Given the description of an element on the screen output the (x, y) to click on. 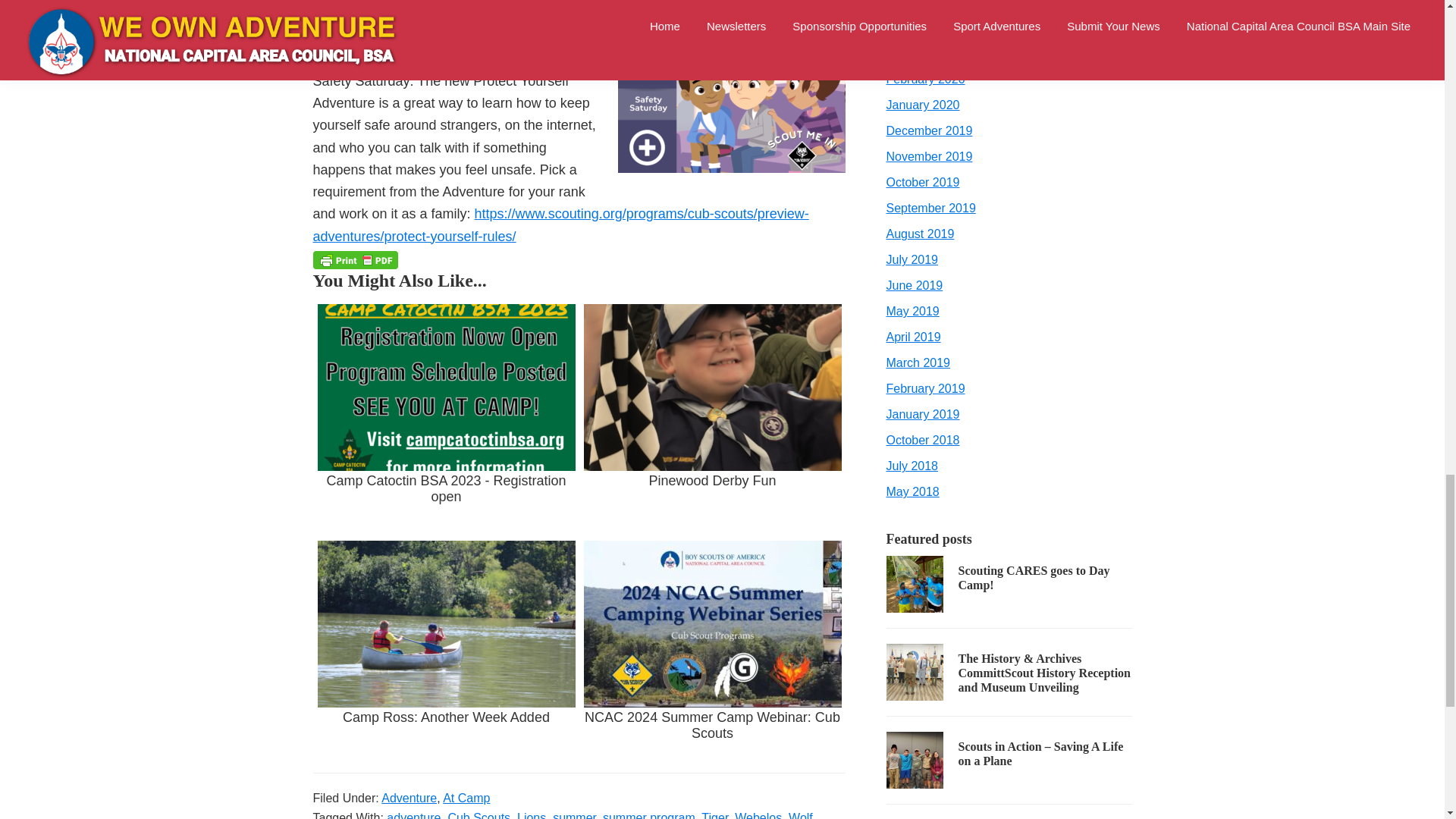
NCAC 2024 Summer Camp Webinar: Cub Scouts (712, 652)
Adventure (408, 797)
At Camp (465, 797)
Pinewood Derby Fun (712, 415)
Cub Scouts (478, 815)
Camp Ross: Another Week Added (446, 652)
adventure (414, 815)
Lions (531, 815)
Camp Catoctin BSA 2023 - Registration open (446, 415)
